Given the description of an element on the screen output the (x, y) to click on. 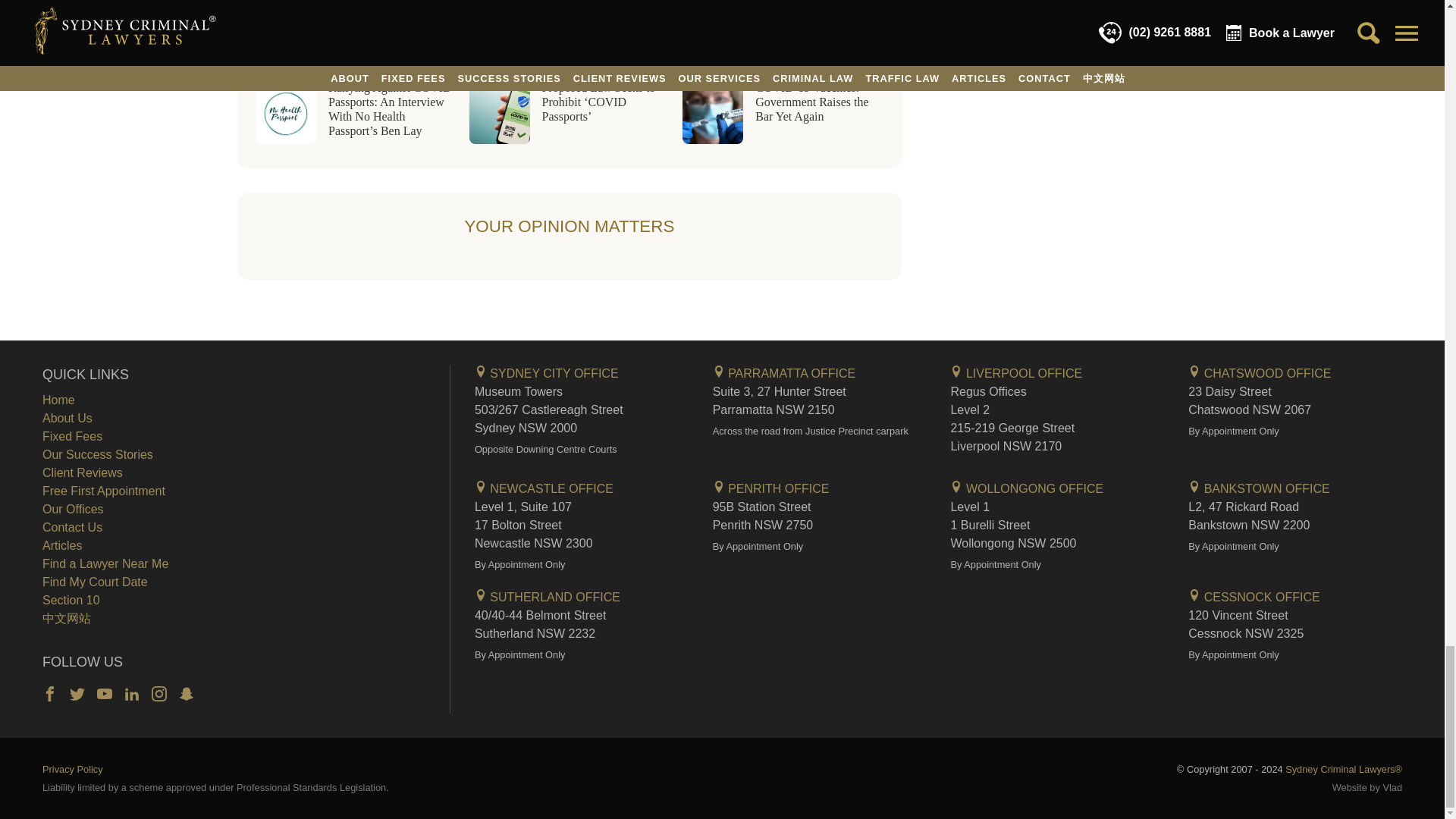
Sutherland Office Page (547, 596)
Sydney City Office Page (546, 373)
Wollongong Office Page (1026, 488)
Parramatta Office Page (784, 373)
Cessnock Office Page (1253, 596)
Chatswood Office Page (1259, 373)
Liverpool Office Page (1015, 373)
Bankstown Office Page (1258, 488)
Newcastle Office Page (543, 488)
Penrith Office Page (771, 488)
